Given the description of an element on the screen output the (x, y) to click on. 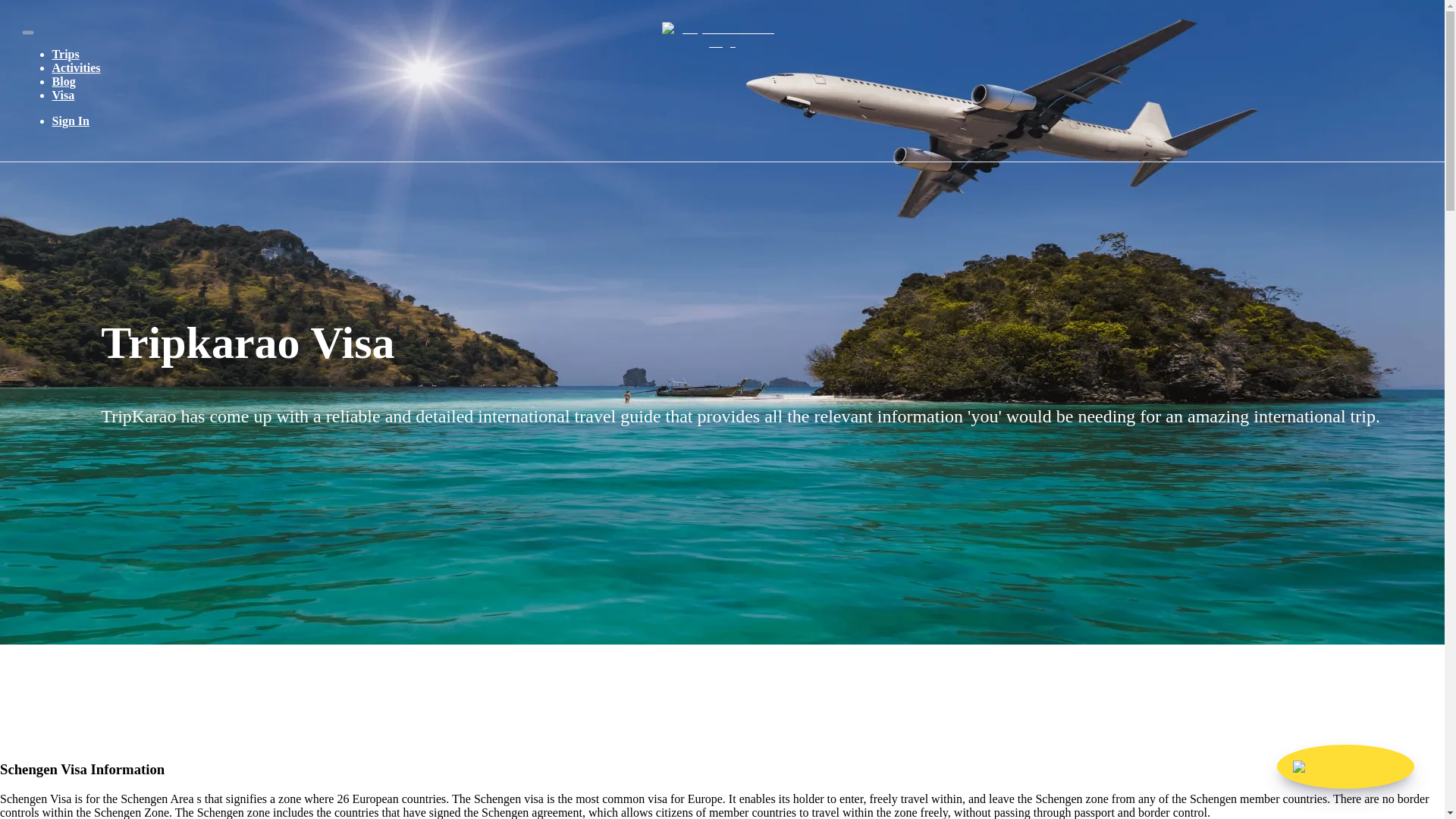
Blog (63, 81)
Visa (63, 94)
Activities (76, 67)
Sign In (70, 120)
Trips (66, 53)
